Given the description of an element on the screen output the (x, y) to click on. 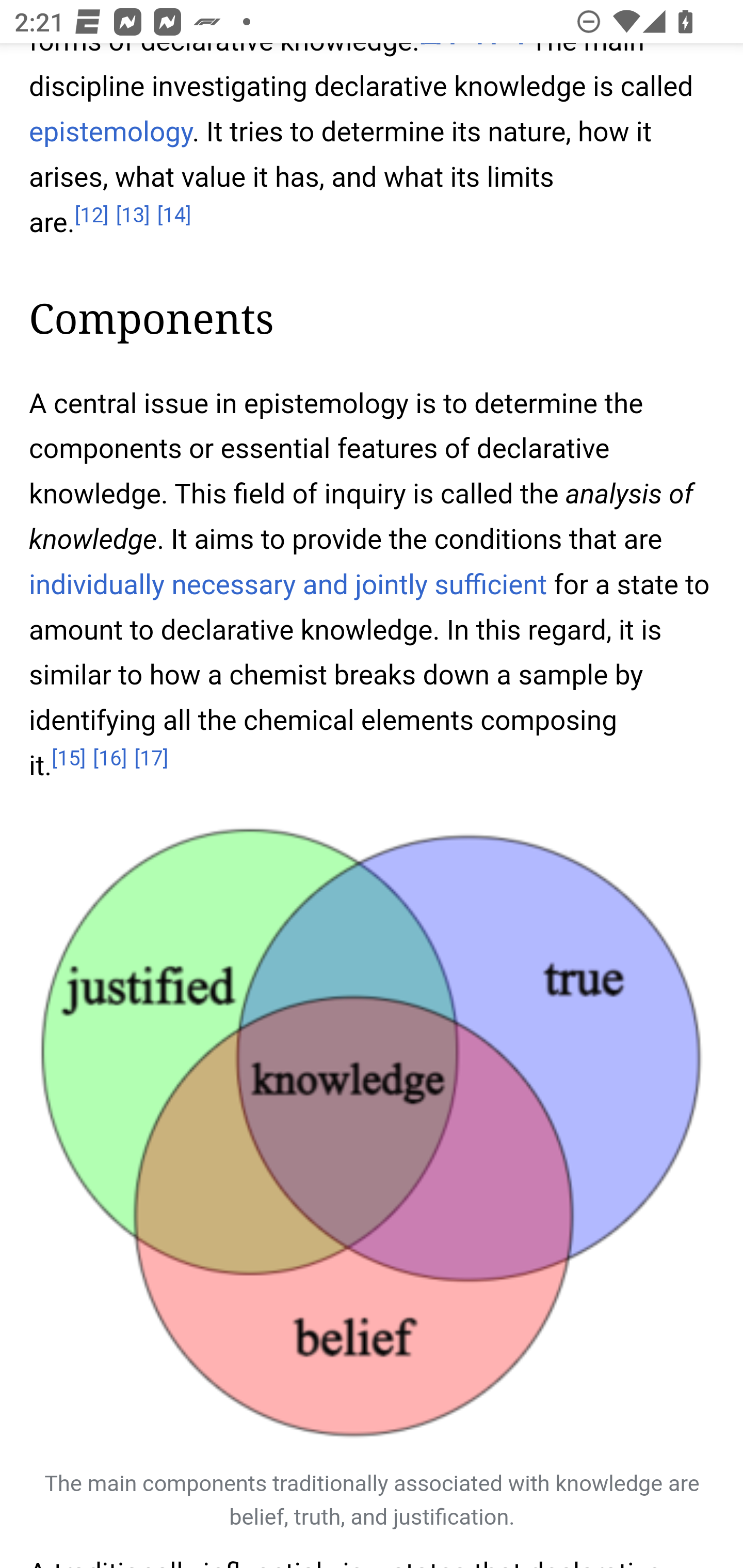
epistemology (110, 132)
[] [ 12 ] (91, 215)
[] [ 13 ] (133, 215)
[] [ 14 ] (174, 215)
individually necessary and jointly sufficient (288, 585)
[] [ 15 ] (68, 760)
[] [ 16 ] (109, 760)
[] [ 17 ] (151, 760)
Venn diagram of justified true belief (372, 1134)
